Given the description of an element on the screen output the (x, y) to click on. 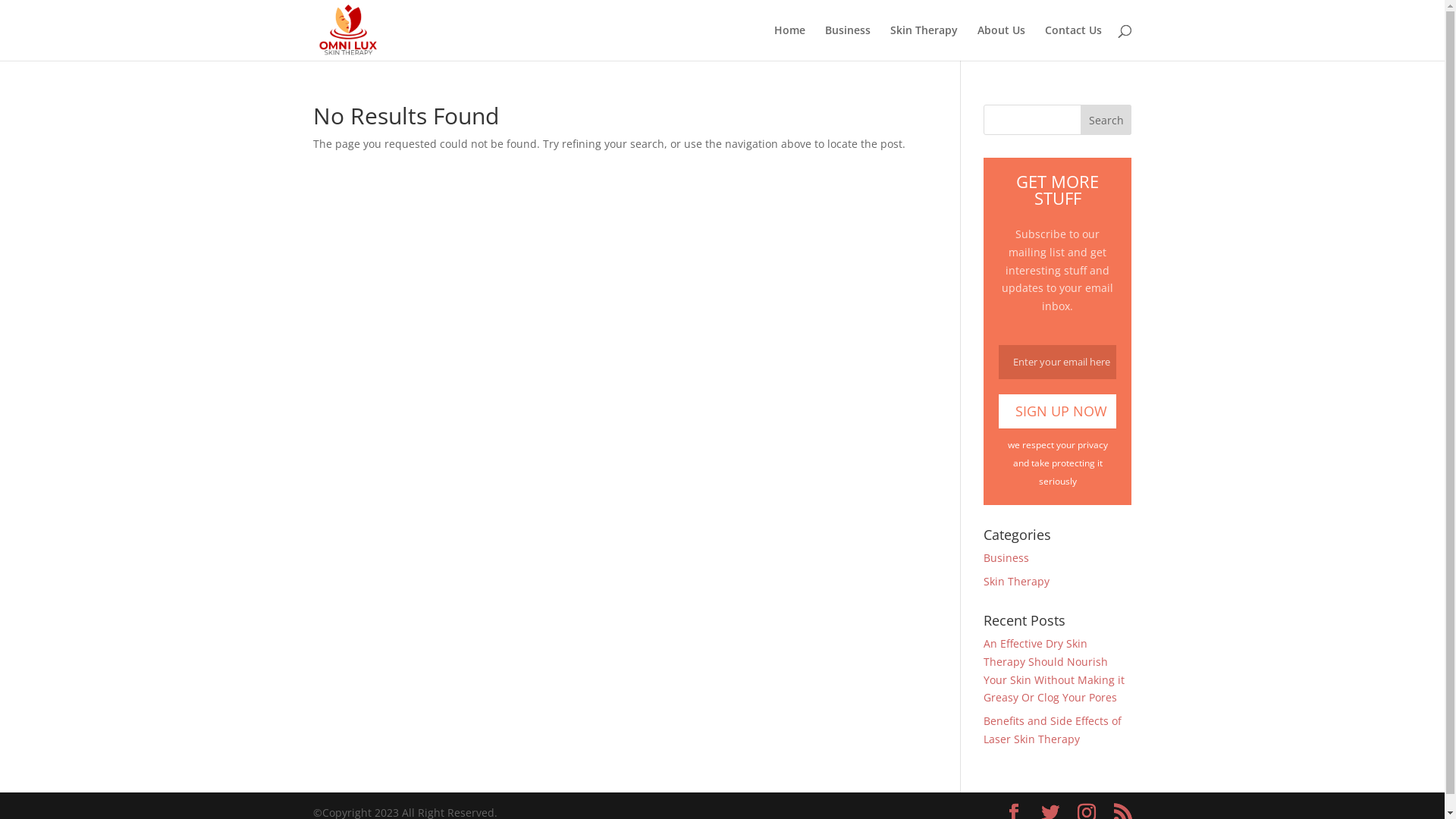
Contact Us Element type: text (1072, 42)
Search Element type: text (1106, 119)
About Us Element type: text (1000, 42)
Skin Therapy Element type: text (1016, 581)
Business Element type: text (1006, 557)
Home Element type: text (788, 42)
Business Element type: text (847, 42)
Benefits and Side Effects of Laser Skin Therapy Element type: text (1052, 729)
Skin Therapy Element type: text (923, 42)
Sign Up Now Element type: text (1057, 411)
